Given the description of an element on the screen output the (x, y) to click on. 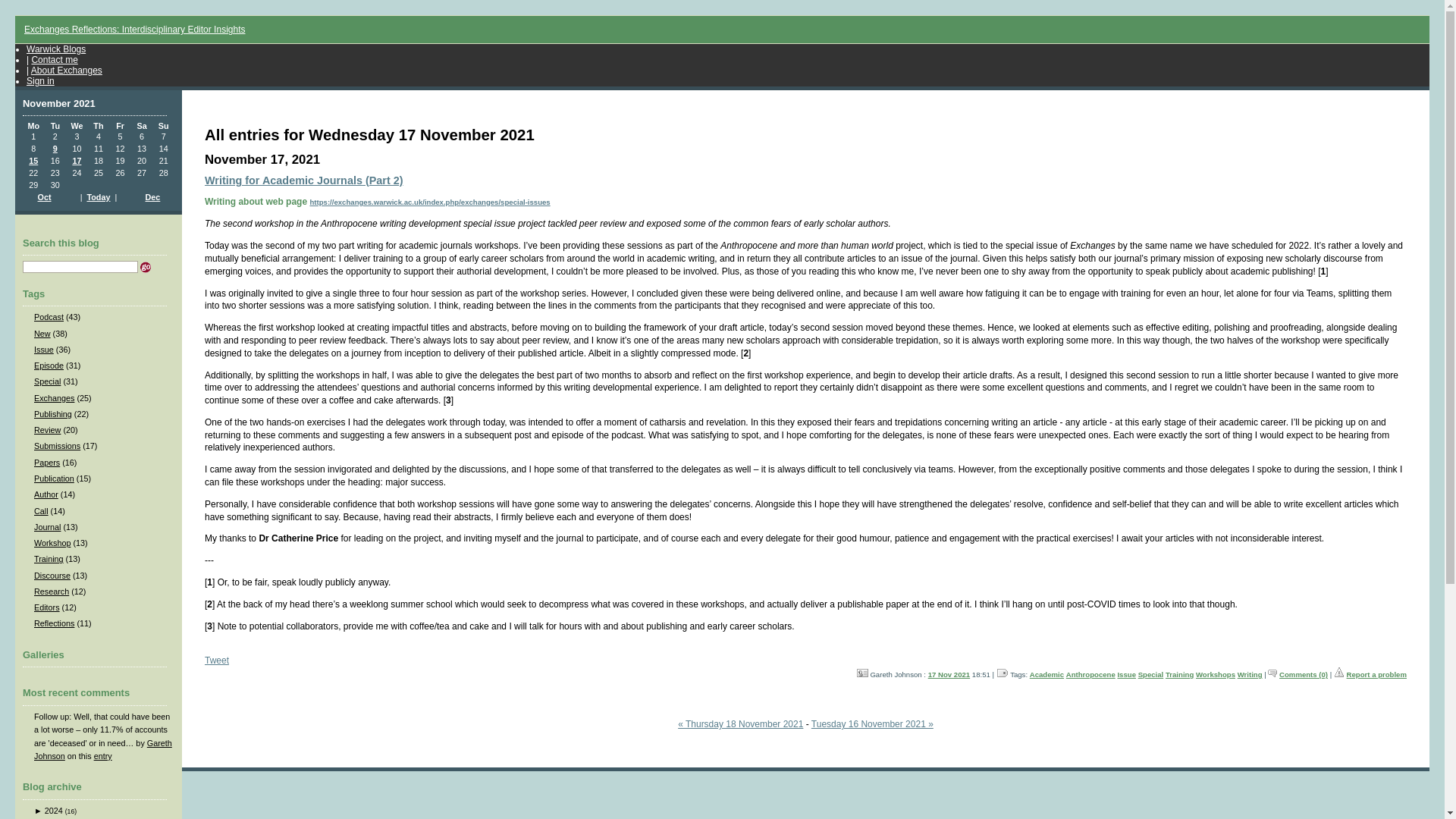
17 Nov 2021 (948, 674)
Dec (152, 196)
About Exchanges (65, 70)
1 entry on 17 November 2021 (76, 160)
Staff: Institute of Advanced Study (862, 673)
Issue (43, 348)
Academic (1046, 674)
15 (33, 160)
Oct (43, 196)
Contact me (53, 59)
Anthropocene (1090, 674)
Papers (46, 461)
Submissions (56, 445)
Sign in (40, 81)
2 entries on 15 November 2021 (33, 160)
